Given the description of an element on the screen output the (x, y) to click on. 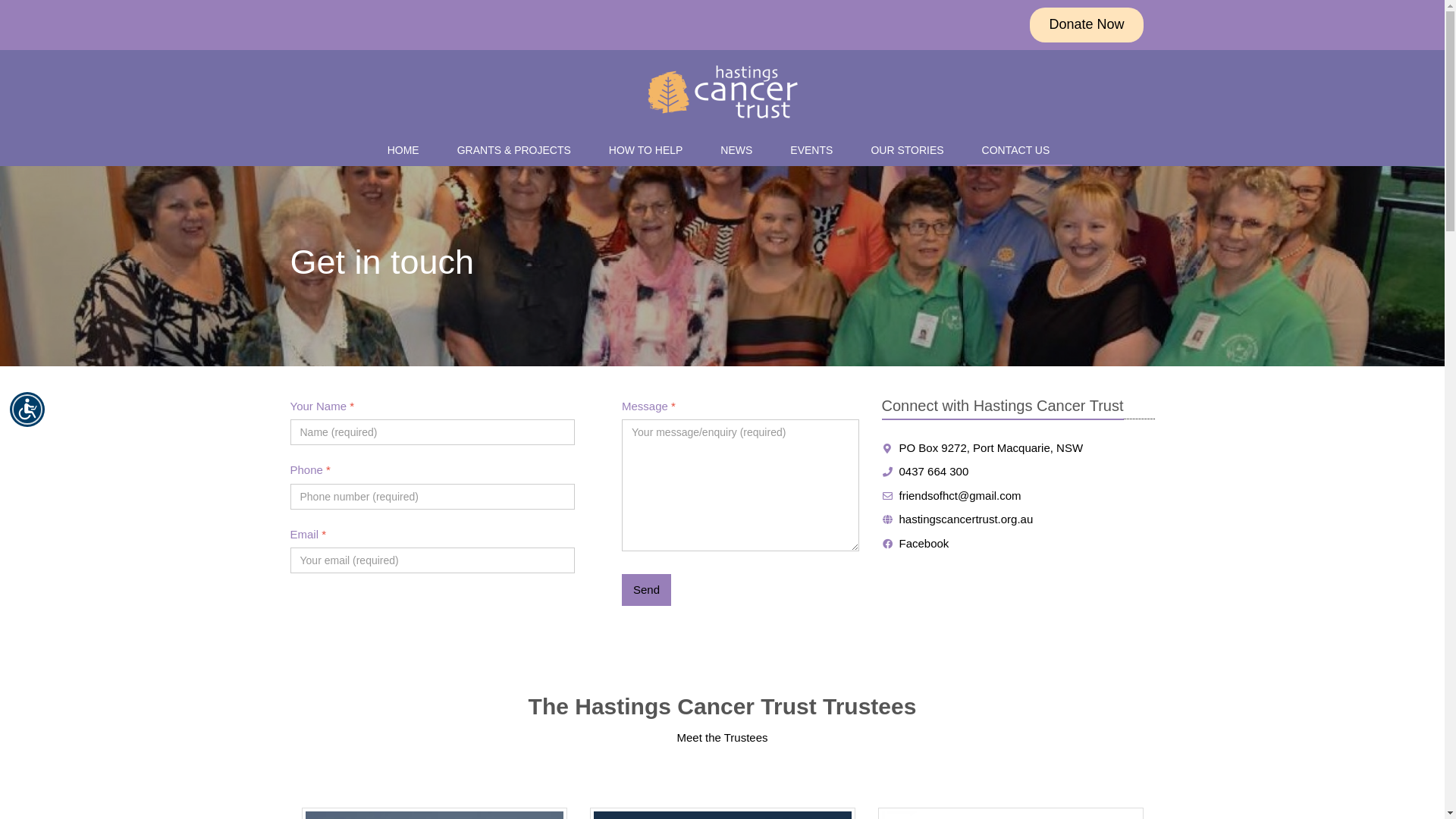
Send Element type: text (646, 589)
friendsofhct@gmail.com Element type: text (950, 494)
HOW TO HELP Element type: text (649, 149)
HOME Element type: text (407, 149)
NEWS Element type: text (740, 149)
GRANTS & PROJECTS Element type: text (517, 149)
OUR STORIES Element type: text (910, 149)
hastingscancertrust.org.au Element type: text (956, 518)
Facebook Element type: text (914, 542)
CONTACT US Element type: text (1019, 149)
Donate Now Element type: text (1085, 24)
EVENTS Element type: text (815, 149)
0437 664 300 Element type: text (924, 470)
PO Box 9272, Port Macquarie, NSW Element type: text (981, 447)
